Given the description of an element on the screen output the (x, y) to click on. 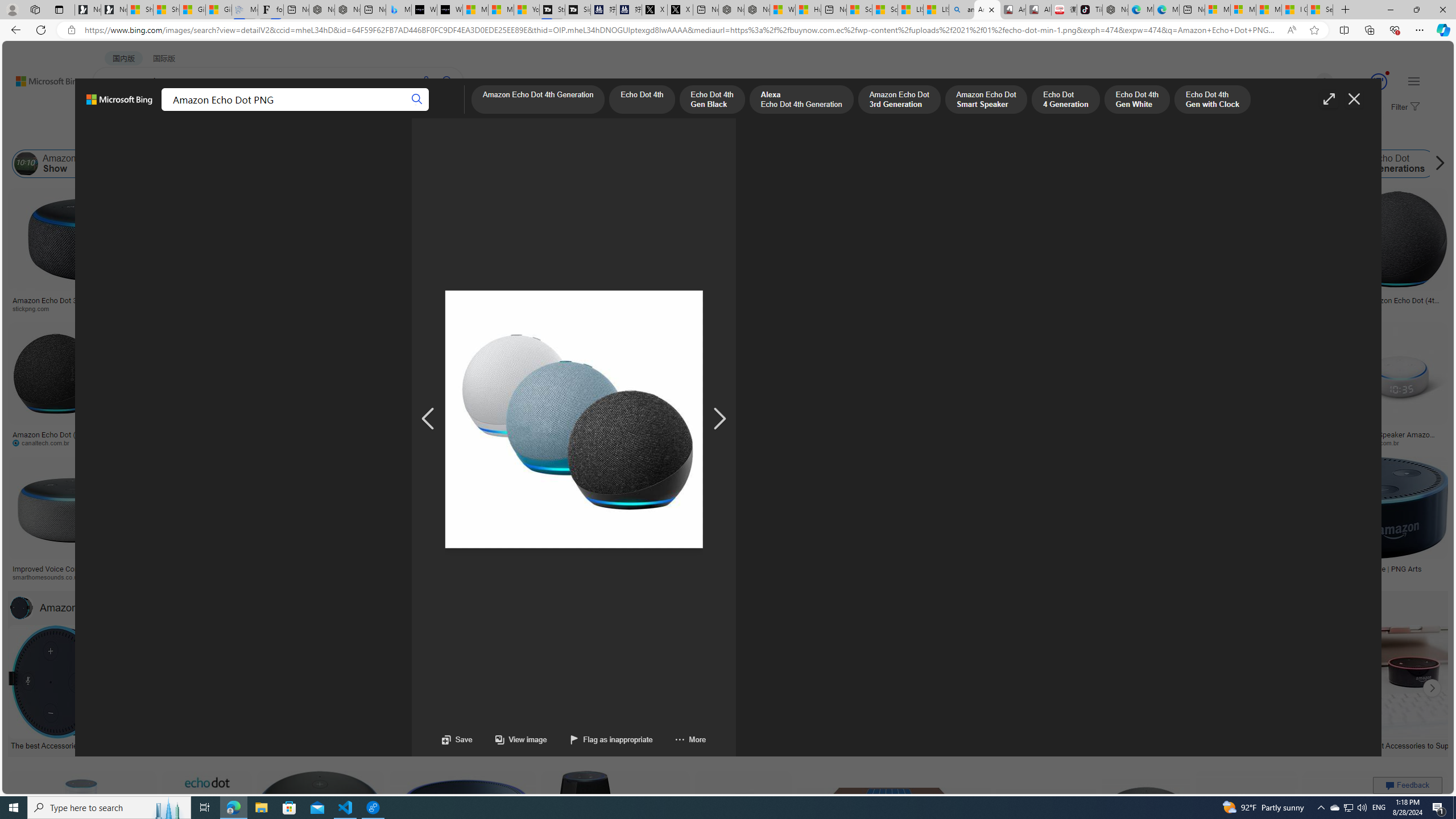
Class: medal-svg-animation (1378, 81)
Eugene (1307, 81)
Image size (127, 135)
View image (521, 739)
VIDEOS (260, 111)
